Given the description of an element on the screen output the (x, y) to click on. 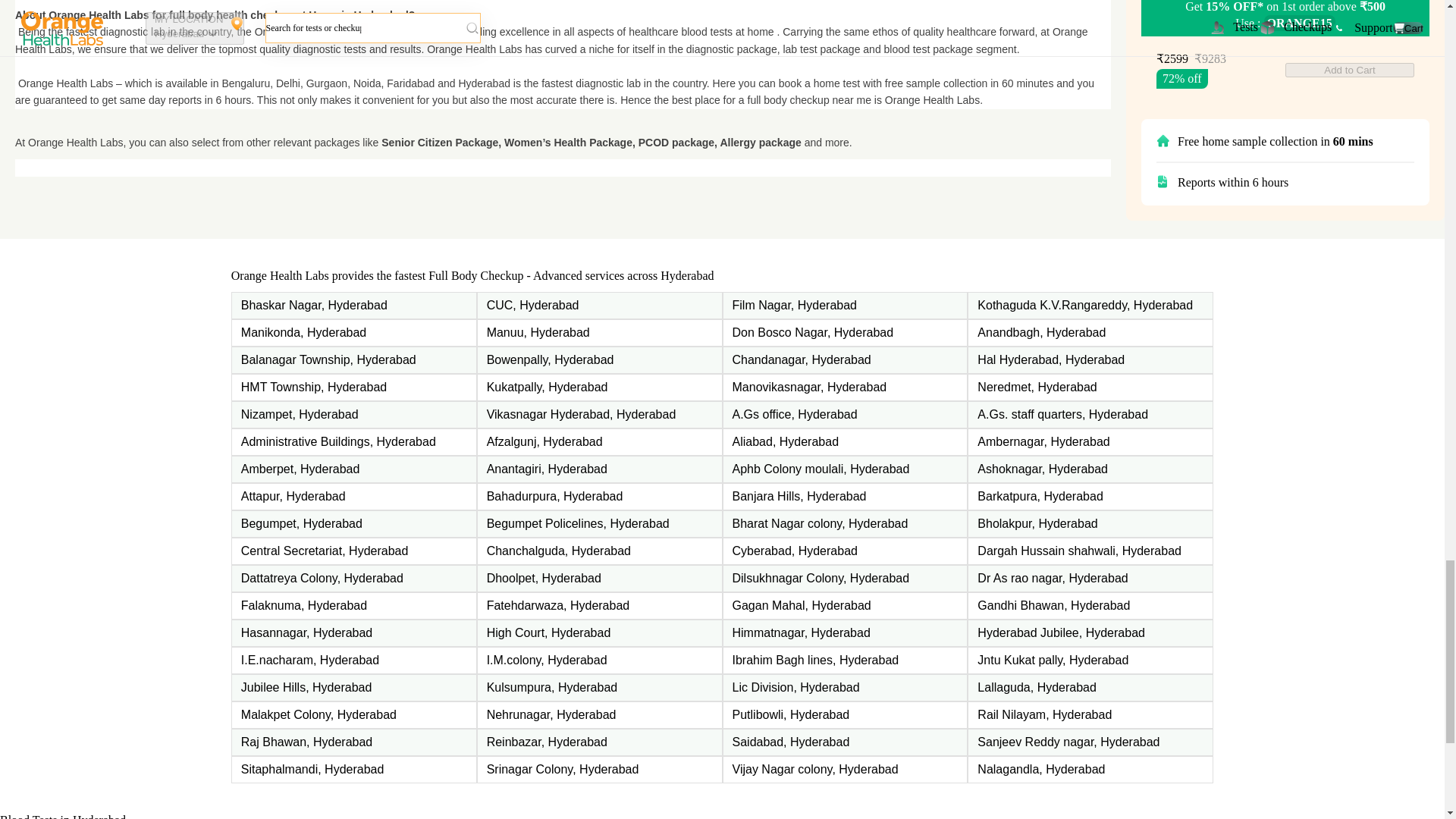
blood tests at home (727, 31)
PCOD package (676, 142)
full body checkup near me (809, 100)
Senior Citizen Package (439, 142)
fastest diagnostic lab (115, 31)
Allergy package (759, 142)
